Given the description of an element on the screen output the (x, y) to click on. 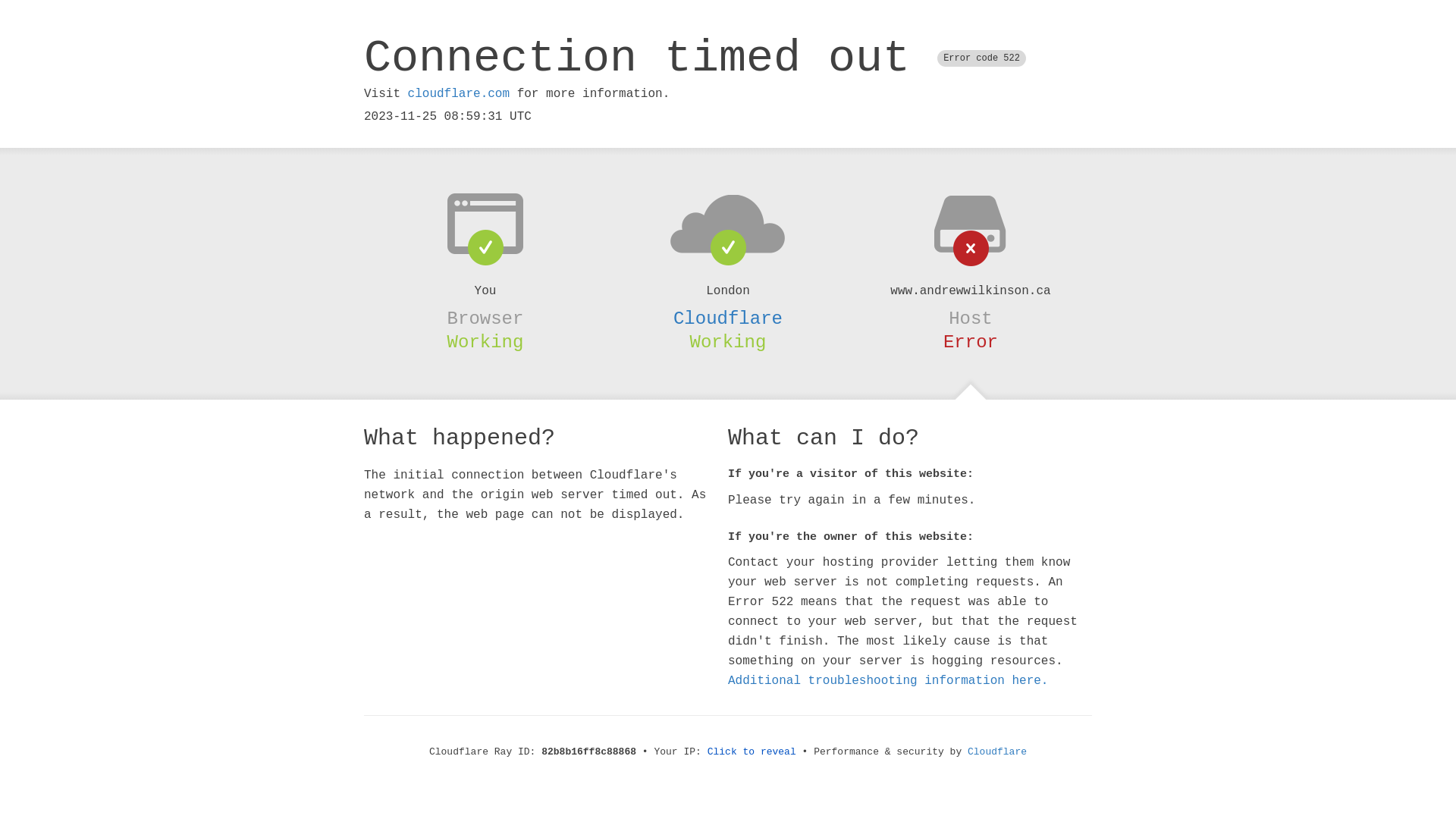
Click to reveal Element type: text (751, 751)
Cloudflare Element type: text (727, 318)
Cloudflare Element type: text (996, 751)
cloudflare.com Element type: text (458, 93)
Additional troubleshooting information here. Element type: text (888, 680)
